Given the description of an element on the screen output the (x, y) to click on. 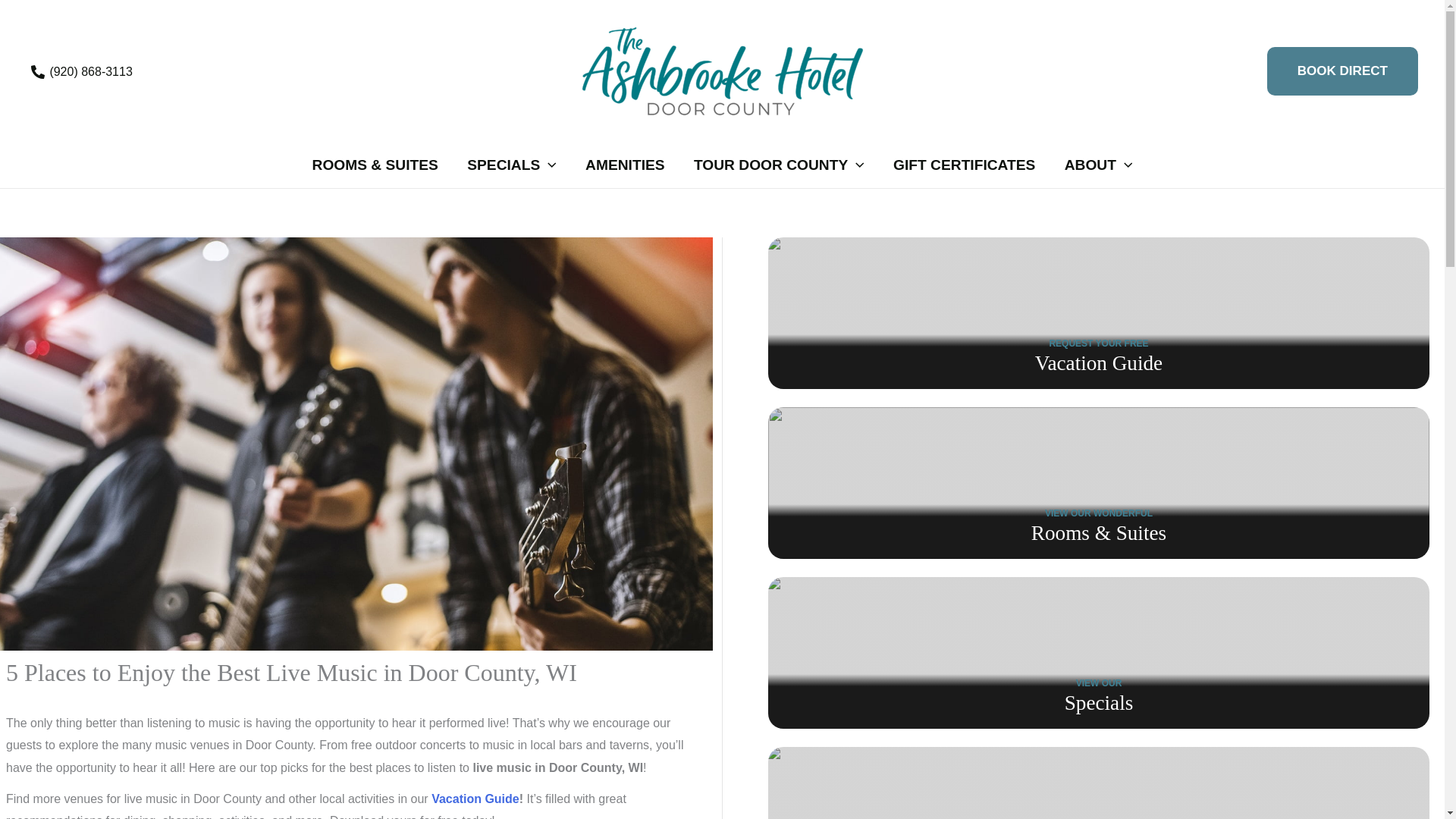
GIFT CERTIFICATES (964, 165)
SPECIALS (511, 165)
TOUR DOOR COUNTY (779, 165)
BOOK DIRECT (1342, 70)
AMENITIES (624, 165)
ABOUT (1098, 165)
